Given the description of an element on the screen output the (x, y) to click on. 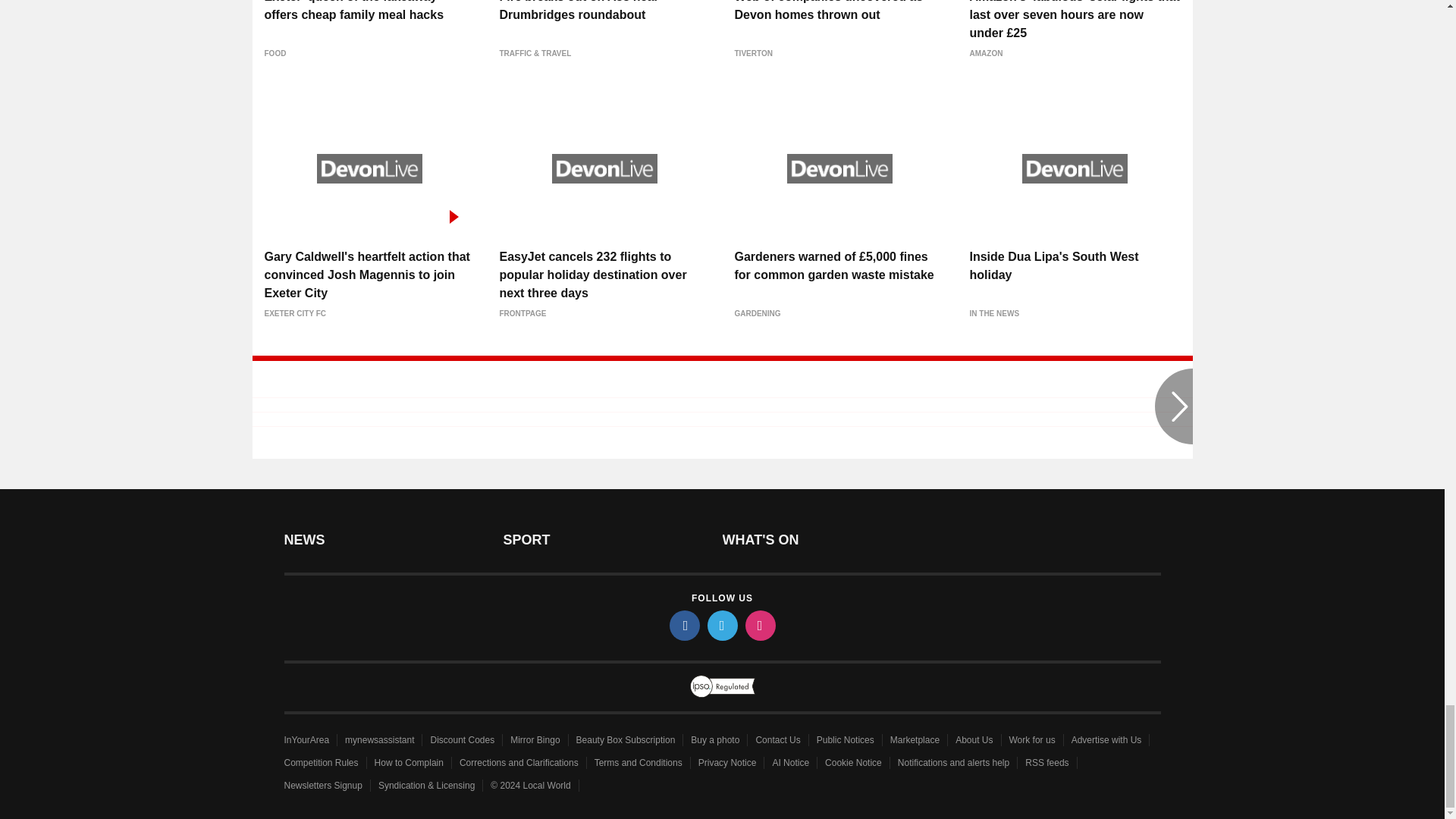
twitter (721, 625)
facebook (683, 625)
instagram (759, 625)
